Given the description of an element on the screen output the (x, y) to click on. 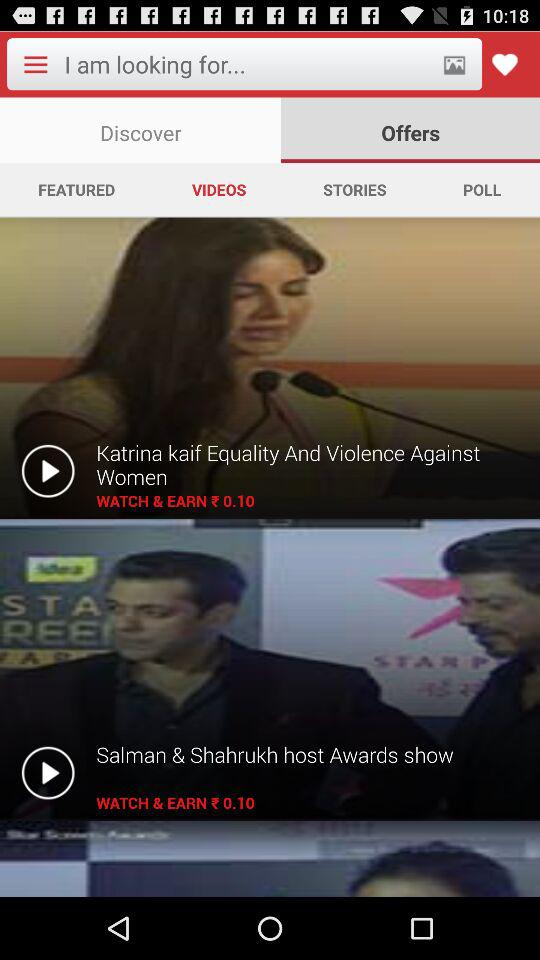
choose the app next to videos icon (76, 189)
